Given the description of an element on the screen output the (x, y) to click on. 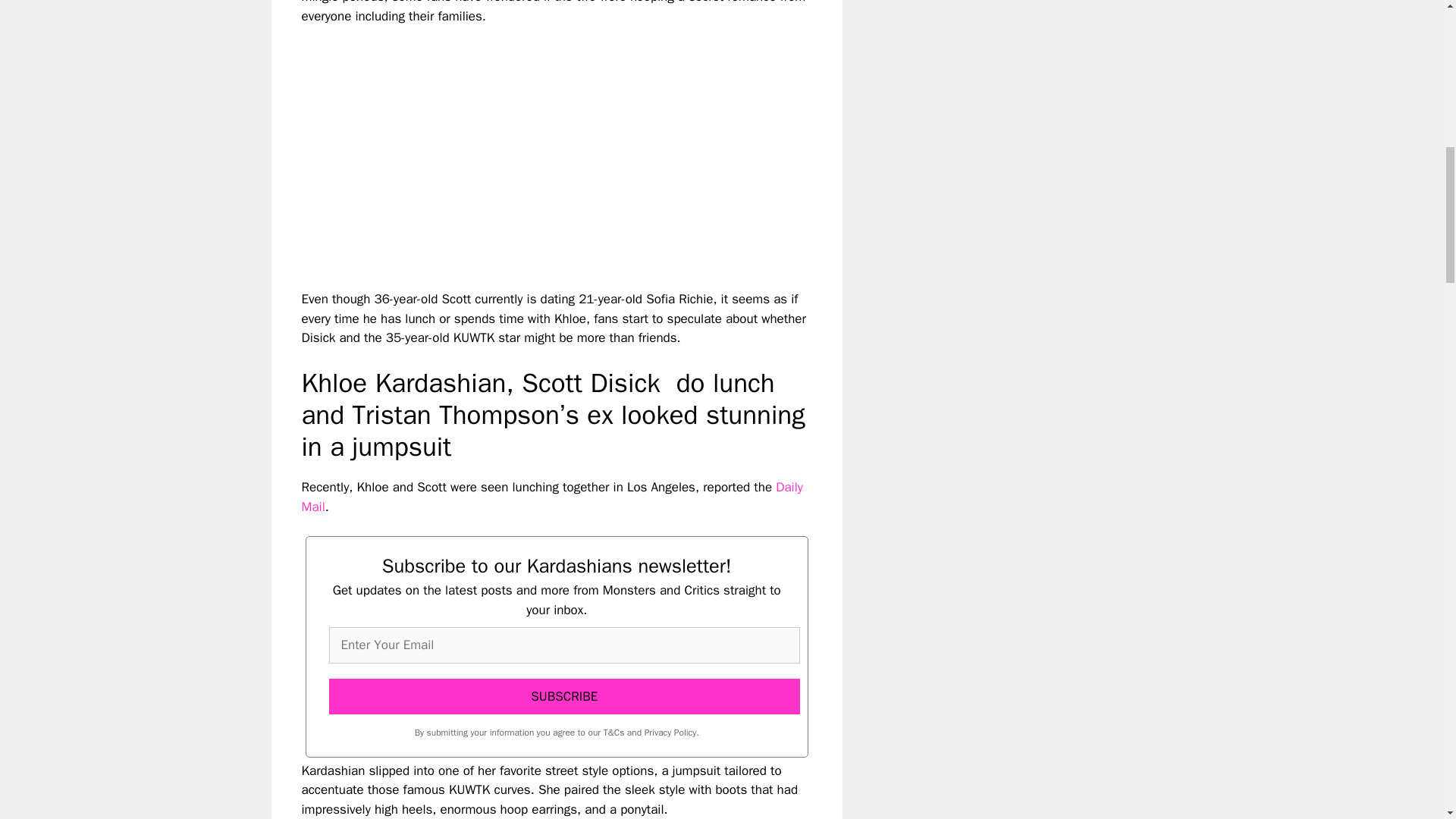
YouTube video player (513, 144)
Daily Mail (552, 497)
SUBSCRIBE (564, 696)
SUBSCRIBE (564, 696)
